Given the description of an element on the screen output the (x, y) to click on. 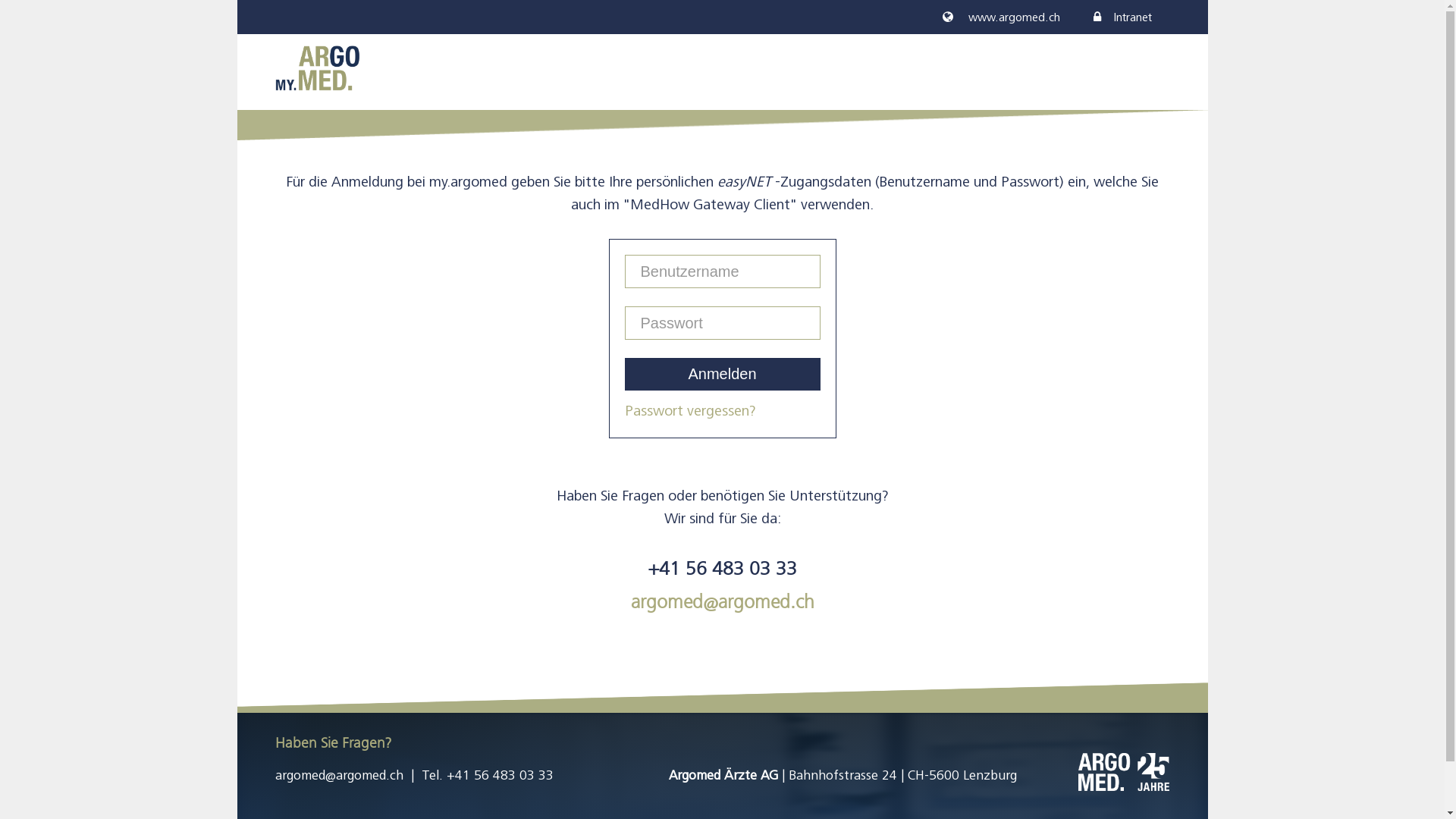
Passwort vergessen? Element type: text (689, 410)
Anmelden Element type: text (722, 373)
Intranet Element type: text (1122, 17)
my.argomed Startseite Element type: hover (316, 66)
 www.argomed.ch Element type: text (1000, 17)
argomed@argomed.ch Element type: text (722, 602)
argomed@argomed.ch Element type: text (338, 774)
